Given the description of an element on the screen output the (x, y) to click on. 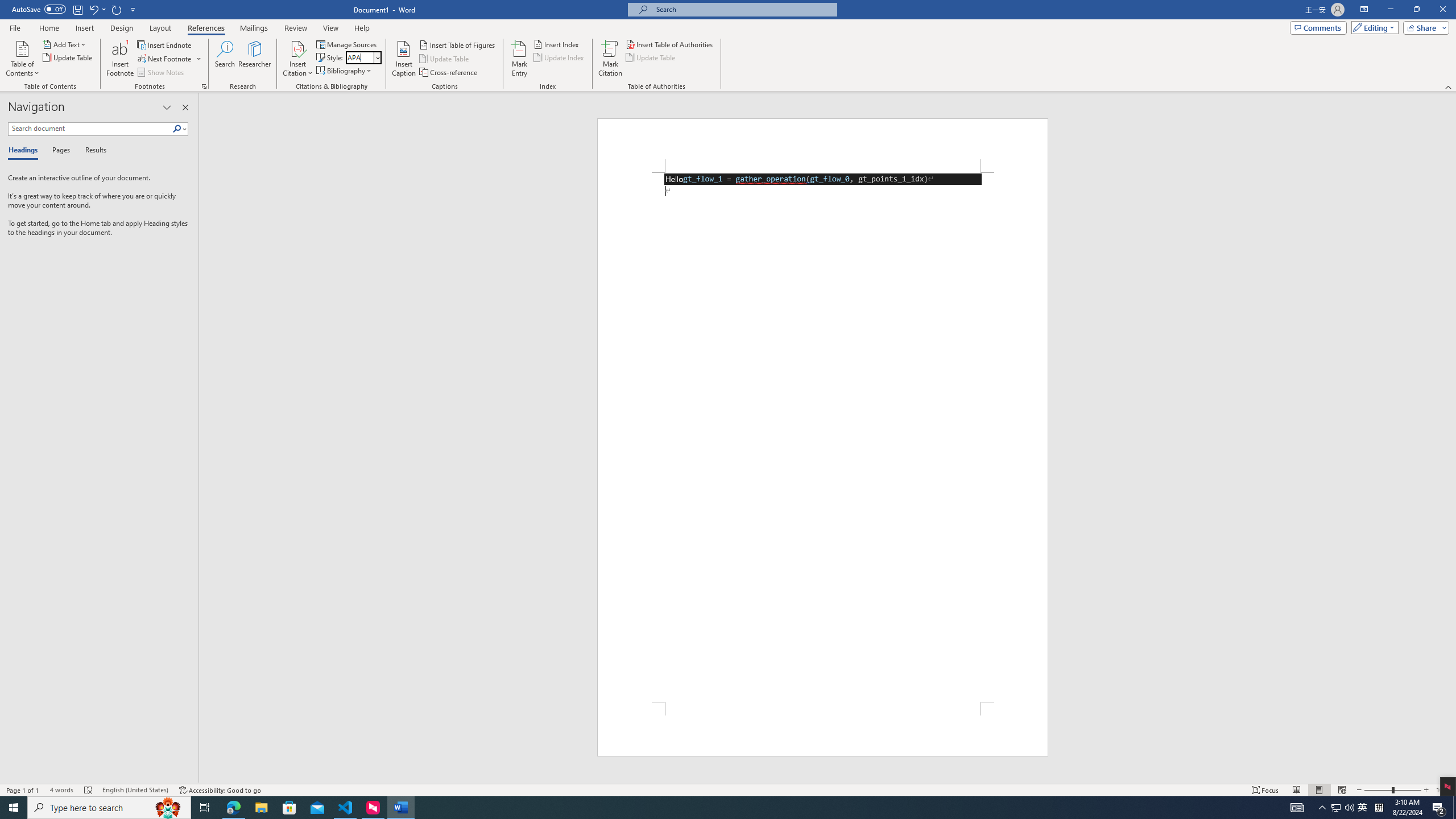
Insert Citation (297, 58)
Next Footnote (165, 58)
Open (377, 57)
Mailings (253, 28)
Class: NetUIScrollBar (1450, 437)
Insert Caption... (403, 58)
Pages (59, 150)
Zoom 100% (1443, 790)
Footnote and Endnote Dialog... (203, 85)
Manage Sources... (347, 44)
Page 1 content (822, 436)
Page Number Page 1 of 1 (22, 790)
Next Footnote (169, 58)
Show Notes (161, 72)
Search document (89, 128)
